Given the description of an element on the screen output the (x, y) to click on. 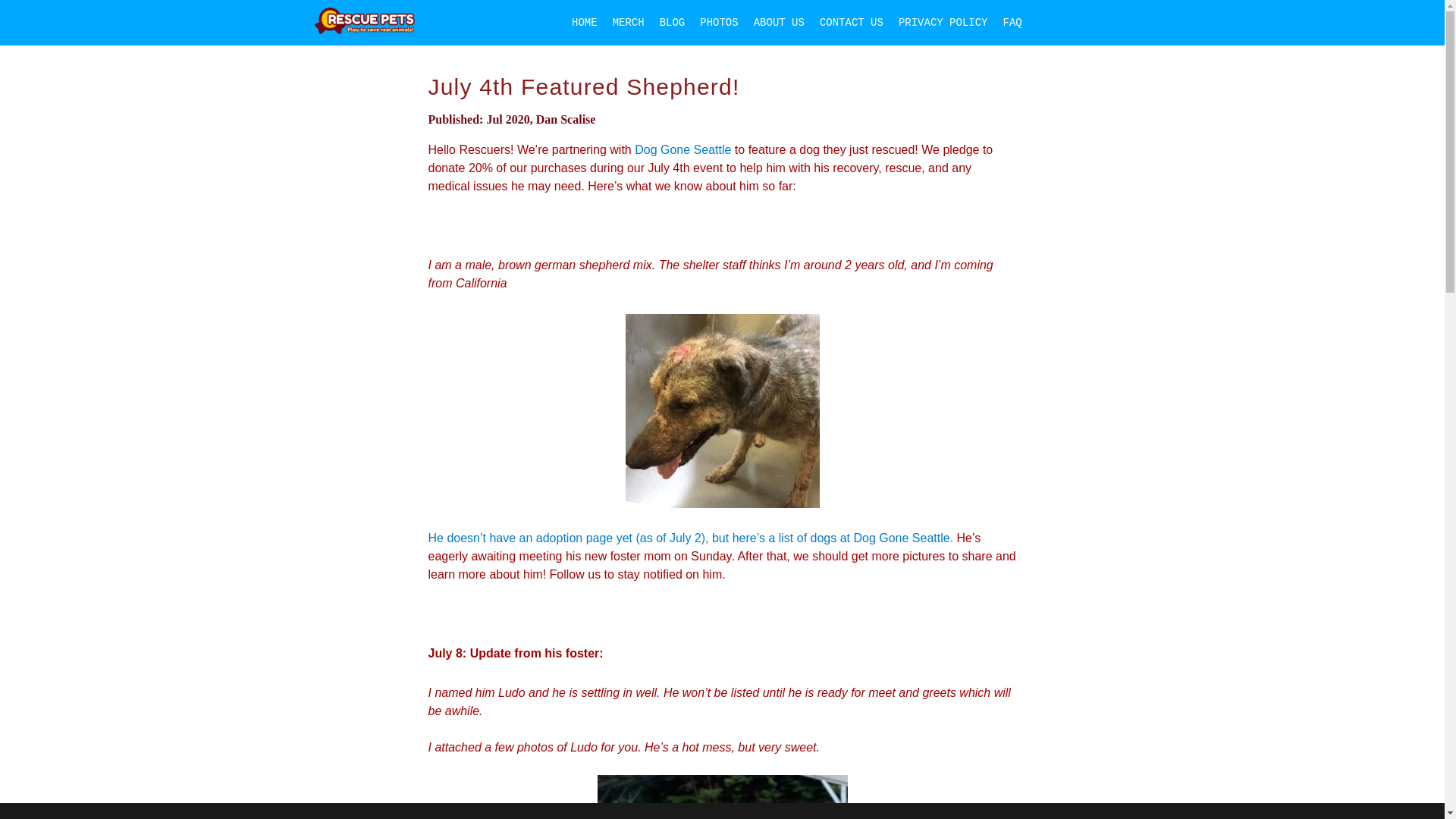
ABOUT US (778, 22)
CONTACT US (851, 22)
HOME (584, 22)
Dog Gone Seattle (682, 149)
MERCH (628, 22)
FAQ (1012, 22)
PRIVACY POLICY (943, 22)
BLOG (672, 22)
PHOTOS (719, 22)
